Given the description of an element on the screen output the (x, y) to click on. 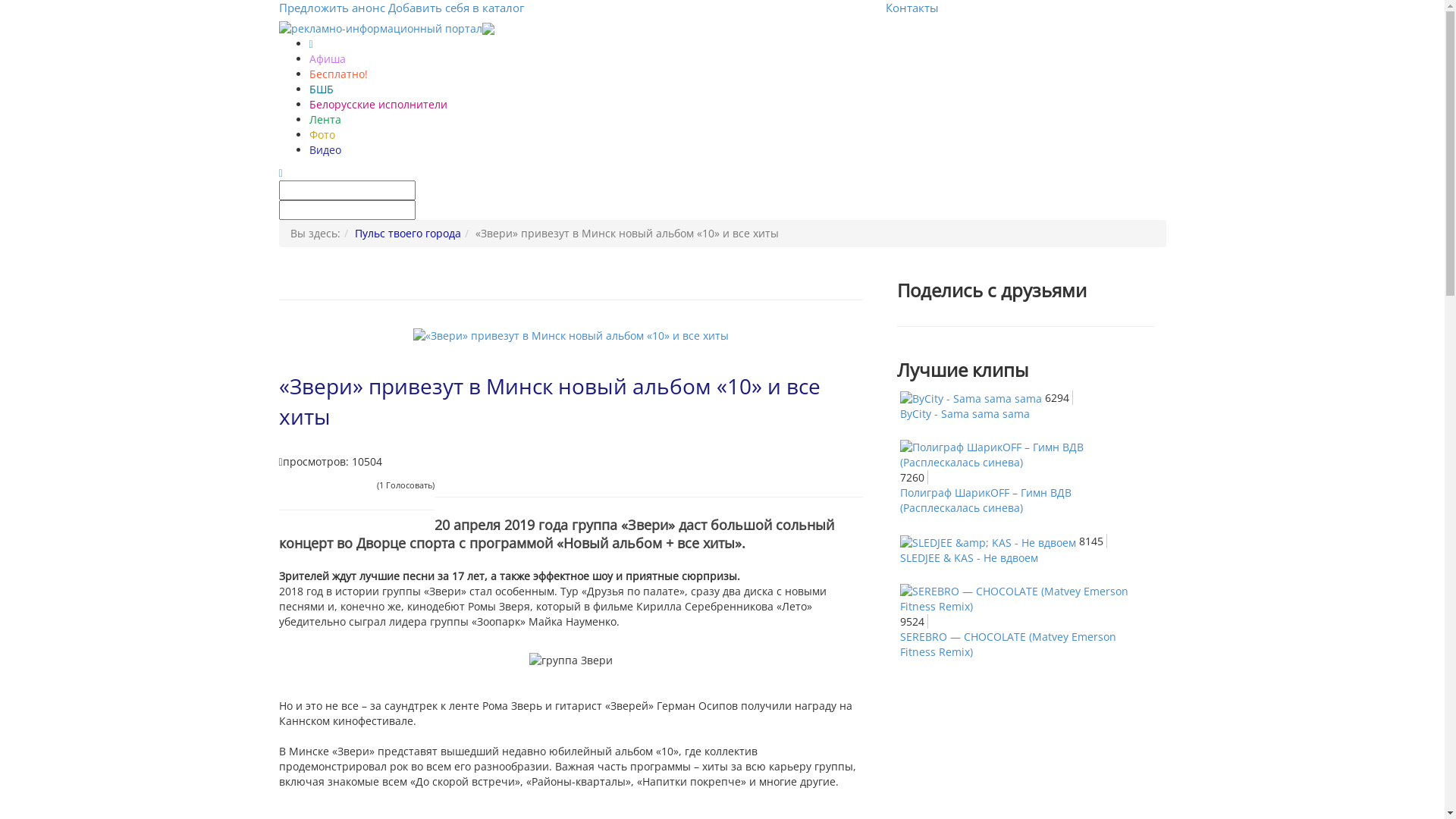
3 Element type: text (307, 484)
4 Element type: text (316, 484)
5 Element type: text (326, 484)
1 Element type: text (288, 484)
ByCity - Sama sama sama Element type: text (964, 413)
2 Element type: text (297, 484)
